Given the description of an element on the screen output the (x, y) to click on. 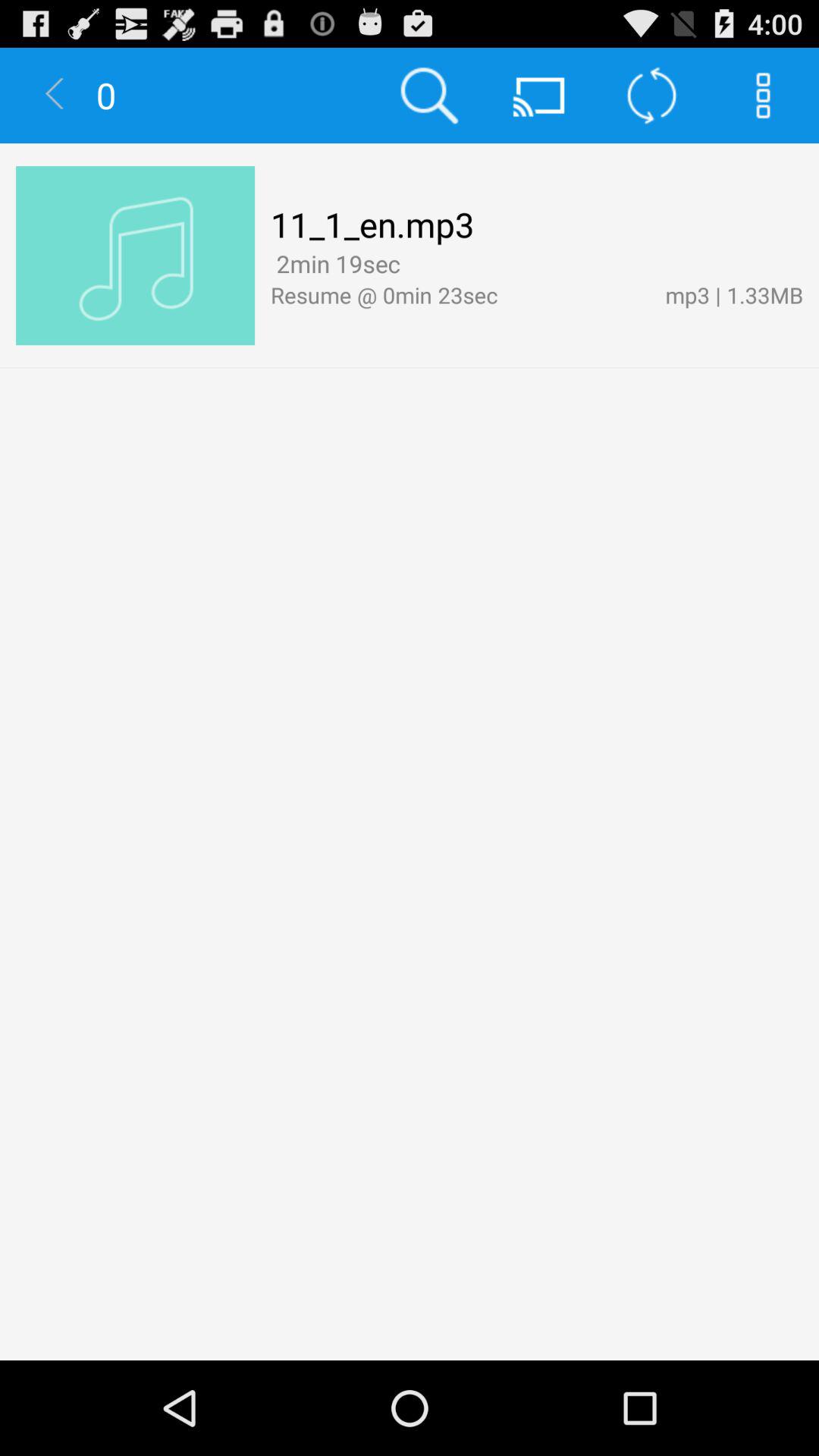
jump until the  2min 19sec icon (335, 263)
